Given the description of an element on the screen output the (x, y) to click on. 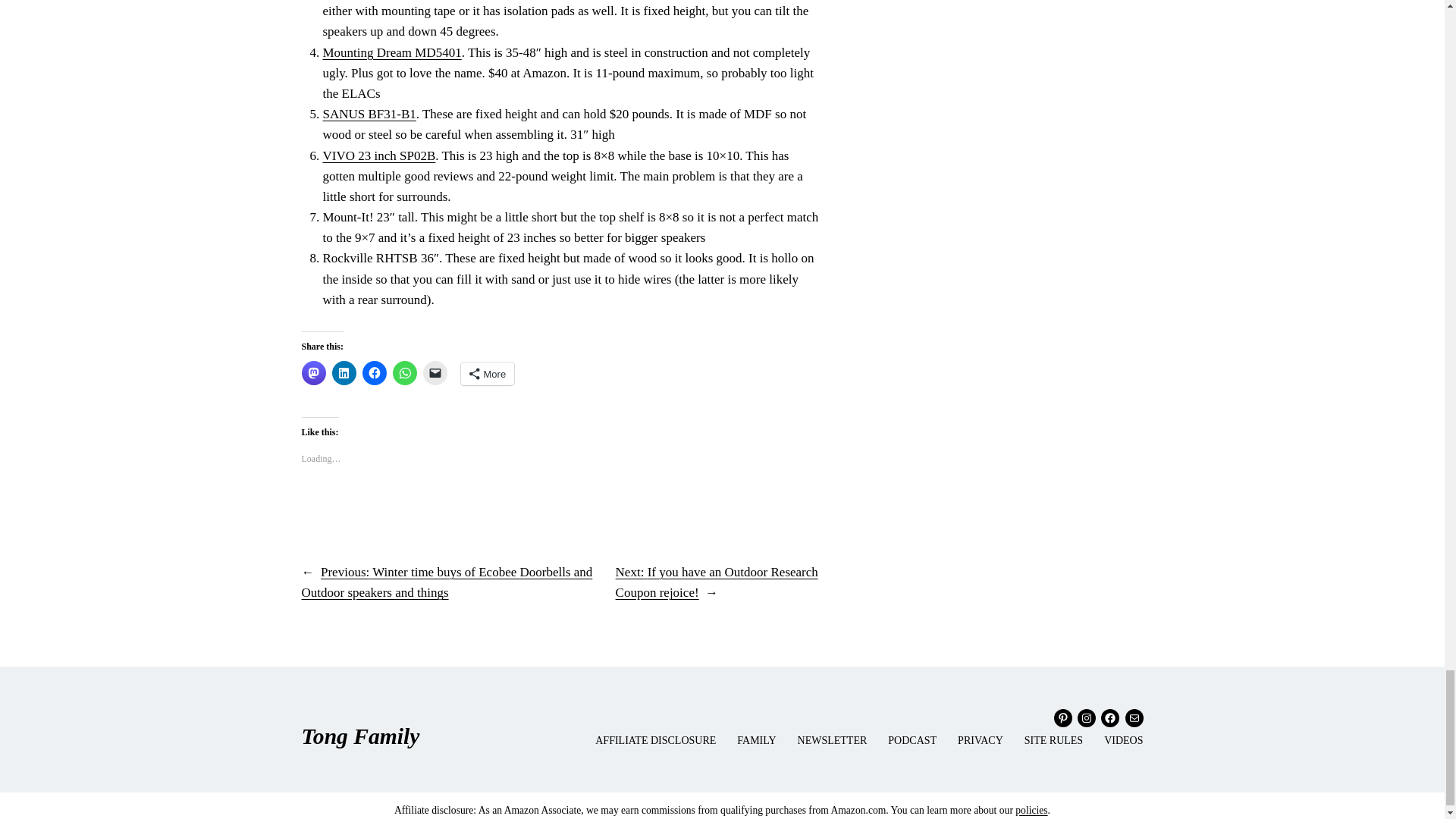
Click to share on WhatsApp (404, 372)
Click to email a link to a friend (434, 372)
Click to share on Mastodon (313, 372)
Click to share on LinkedIn (343, 372)
Click to share on Facebook (374, 372)
